Given the description of an element on the screen output the (x, y) to click on. 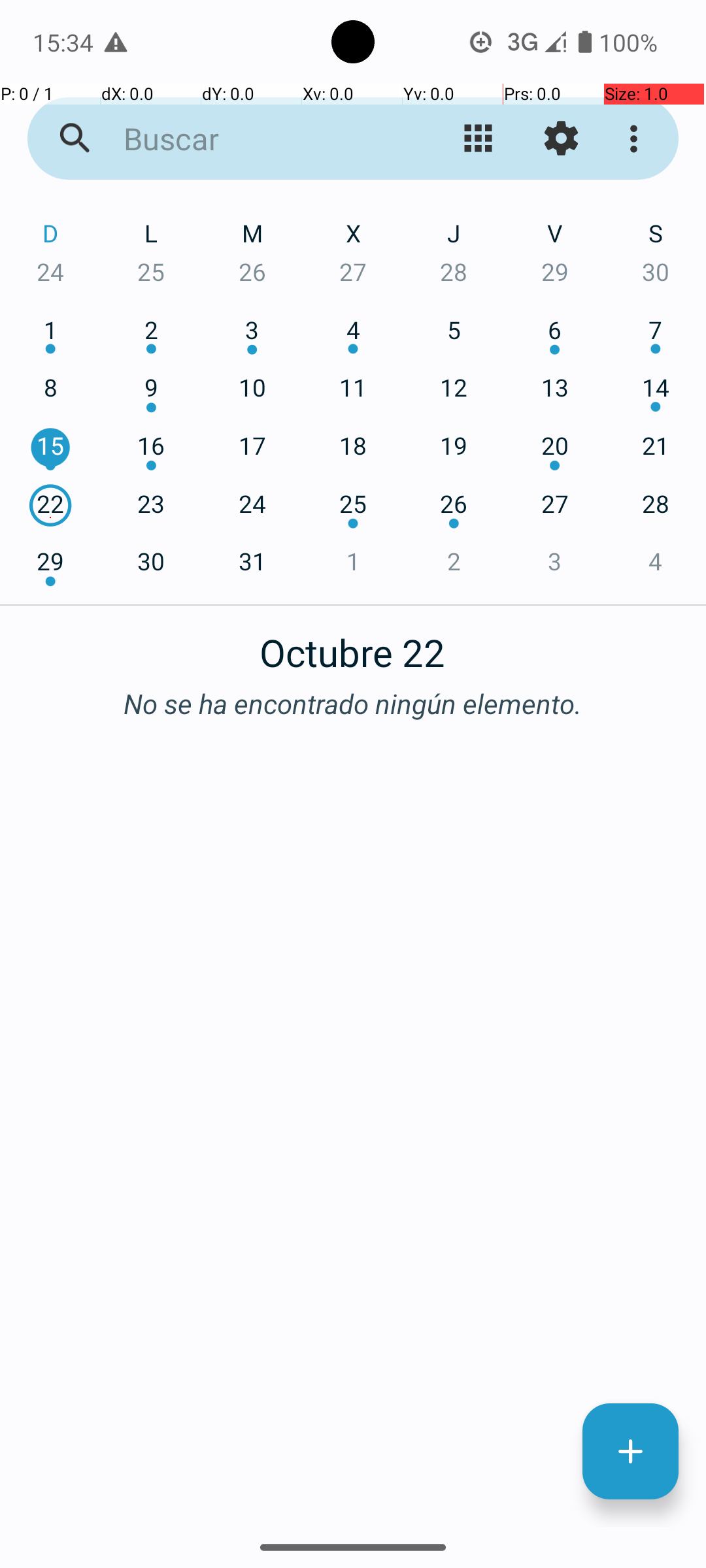
Octubre 22 Element type: android.widget.TextView (352, 644)
